Given the description of an element on the screen output the (x, y) to click on. 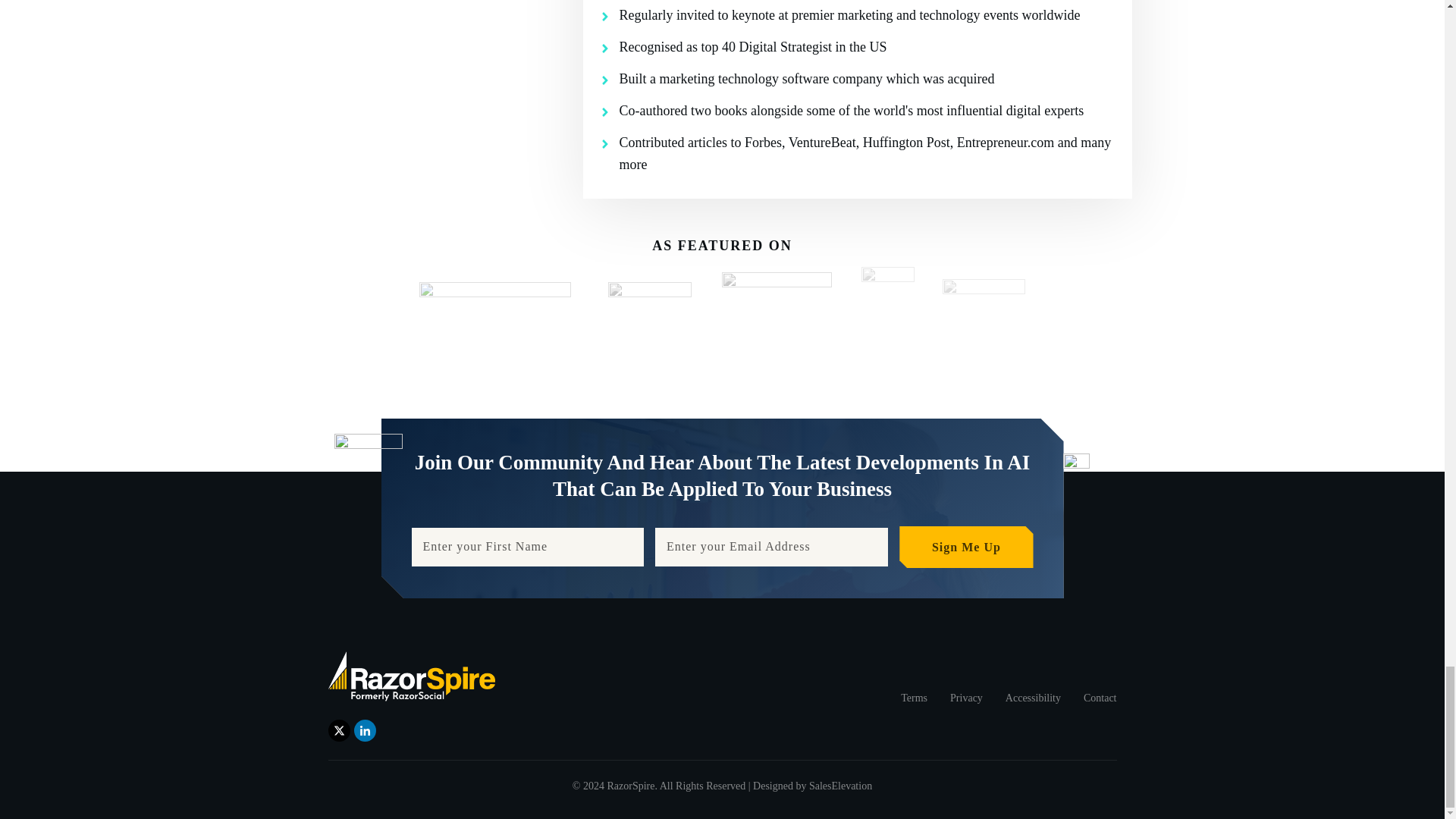
Contact (1099, 697)
Sign Me Up (965, 547)
logo-NYT (494, 292)
Terms (914, 697)
SalesElevation (840, 785)
img-founder (466, 83)
Privacy (966, 697)
Accessibility (1033, 697)
